Given the description of an element on the screen output the (x, y) to click on. 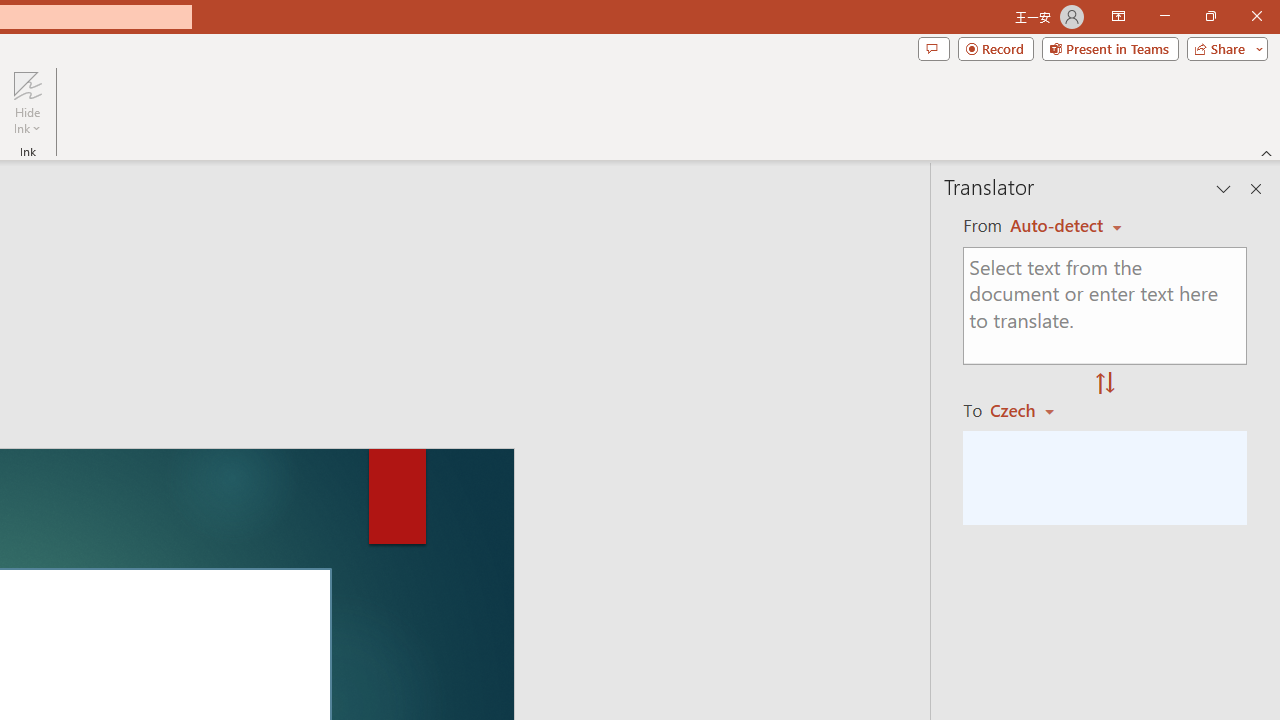
Czech (1030, 409)
